Given the description of an element on the screen output the (x, y) to click on. 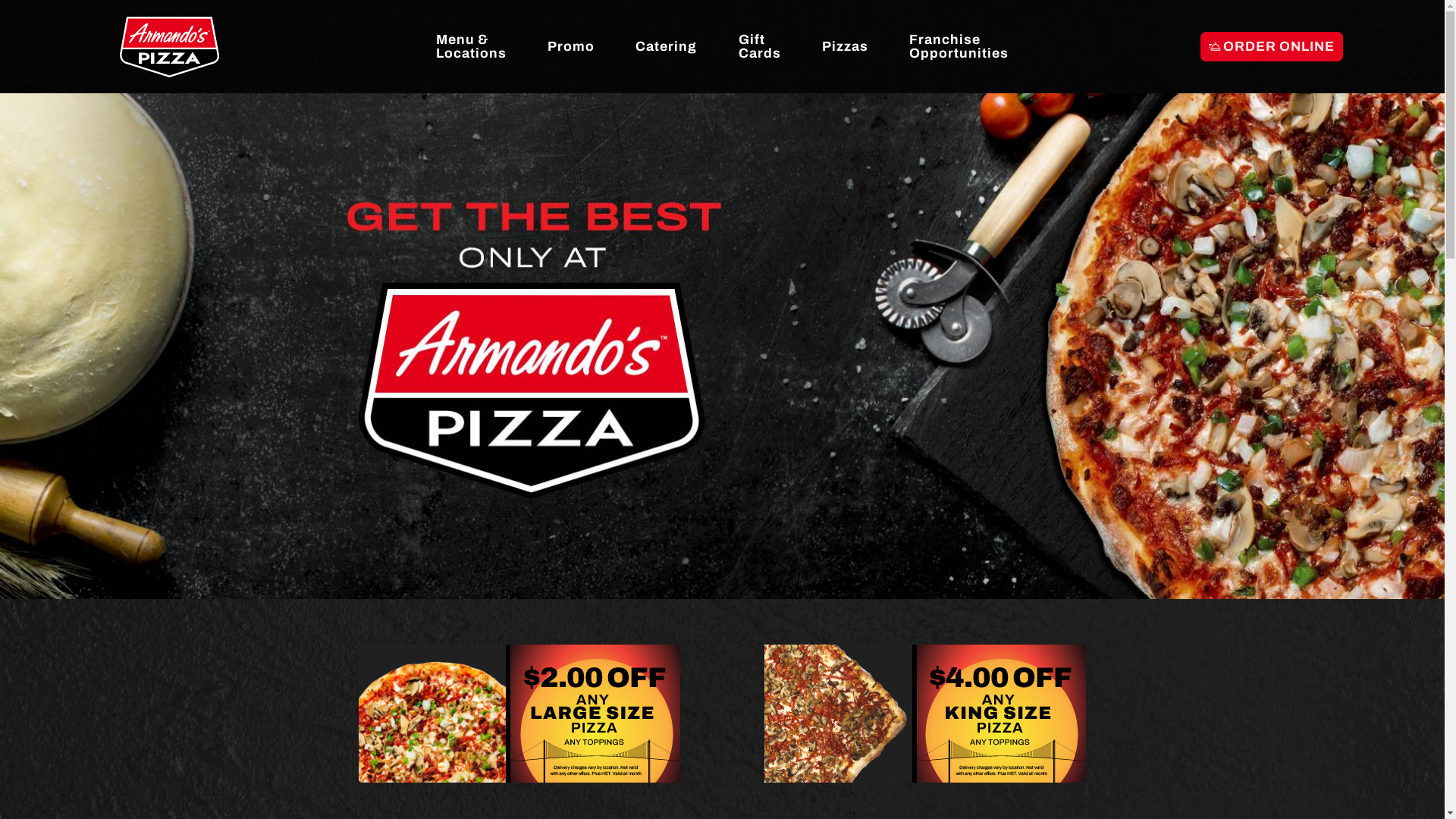
ORDER ONLINE Element type: text (1271, 46)
Gift Cards Element type: text (759, 46)
Pizzas Element type: text (844, 46)
Franchise Opportunities Element type: text (958, 46)
Catering Element type: text (666, 46)
Promo Element type: text (571, 46)
Menu & Locations Element type: text (471, 46)
